Given the description of an element on the screen output the (x, y) to click on. 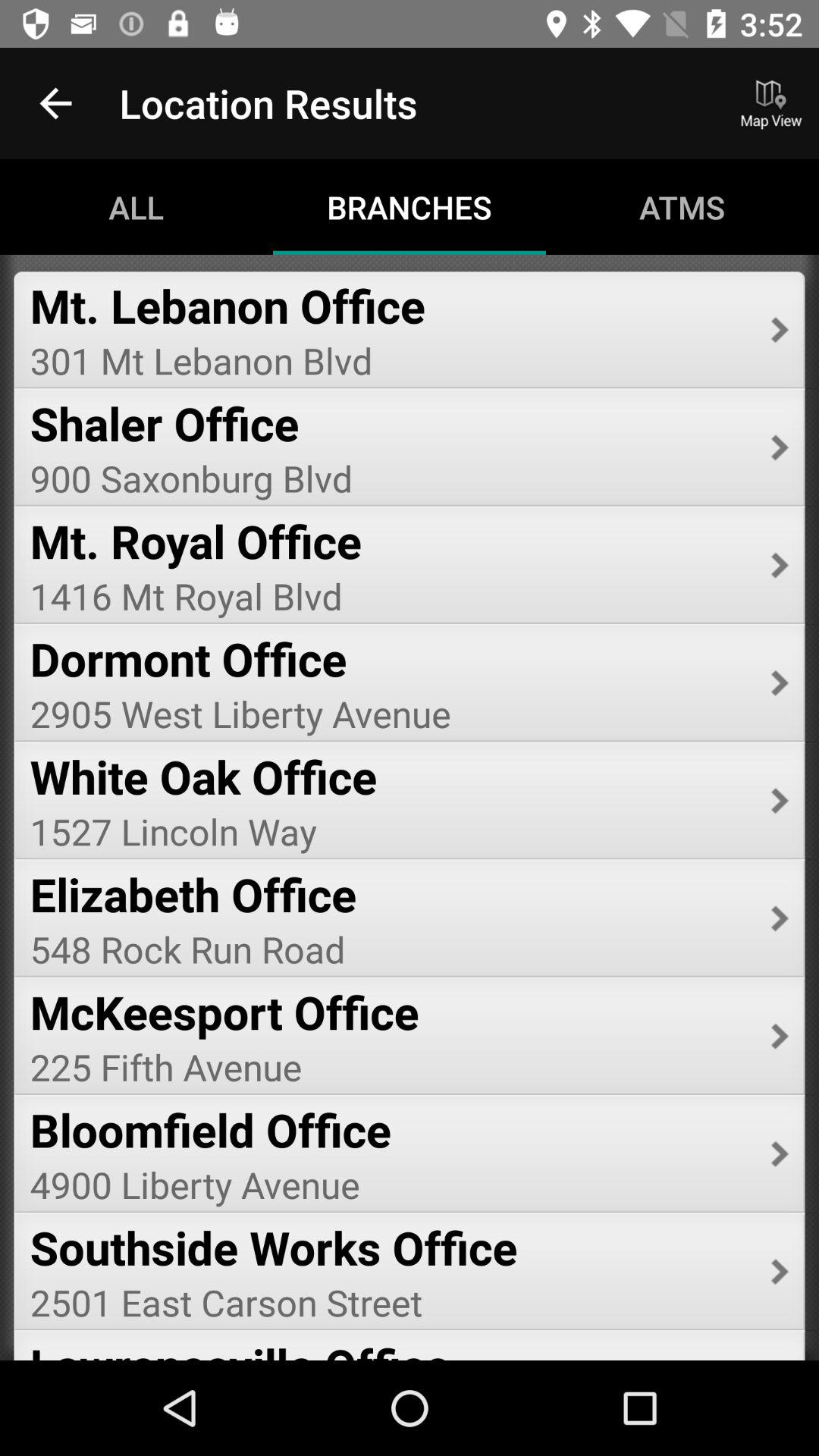
tap the item below 548 rock run (390, 1011)
